Given the description of an element on the screen output the (x, y) to click on. 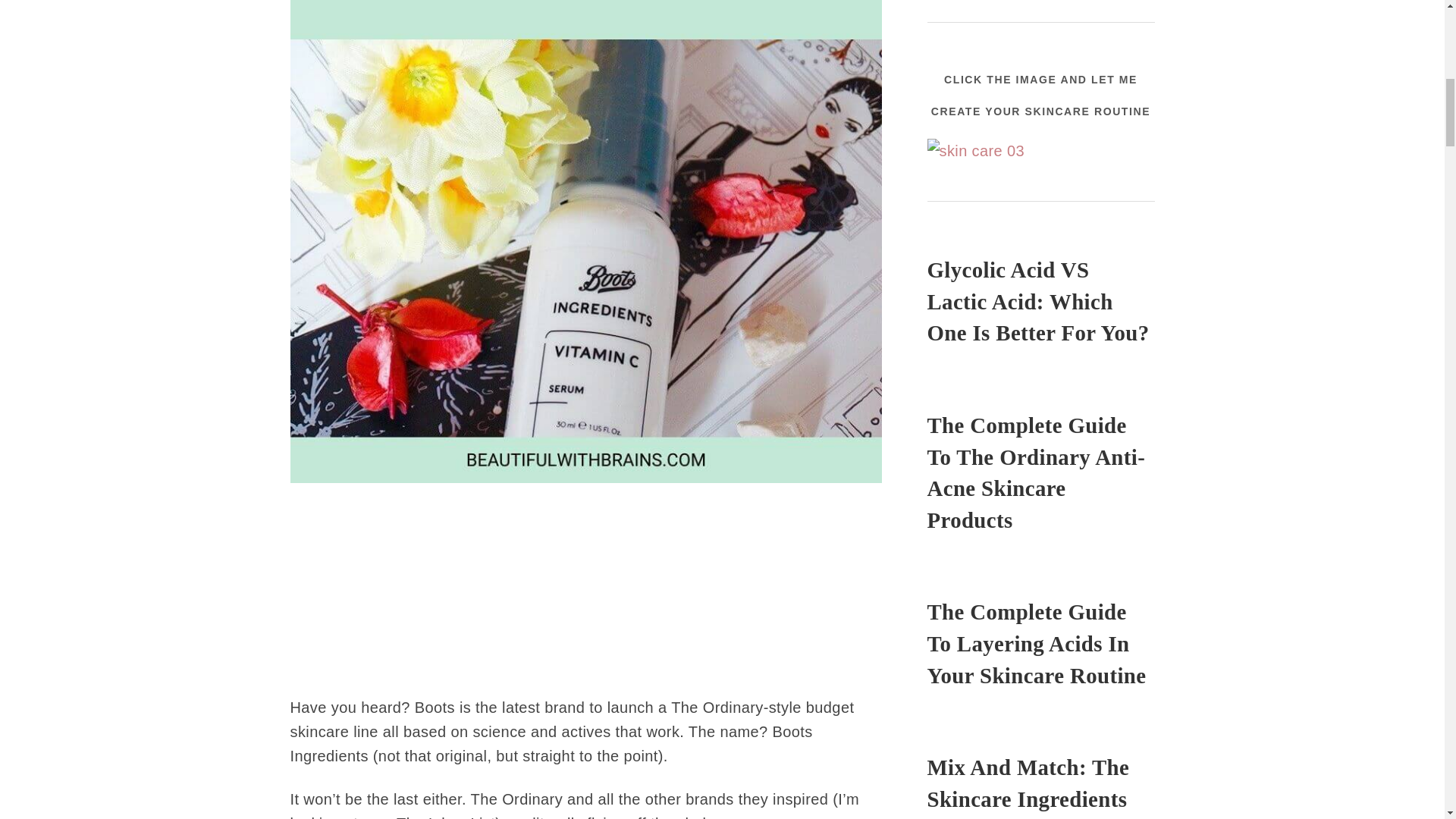
Glycolic Acid VS Lactic Acid: Which One Is Better For You? (1040, 302)
